Given the description of an element on the screen output the (x, y) to click on. 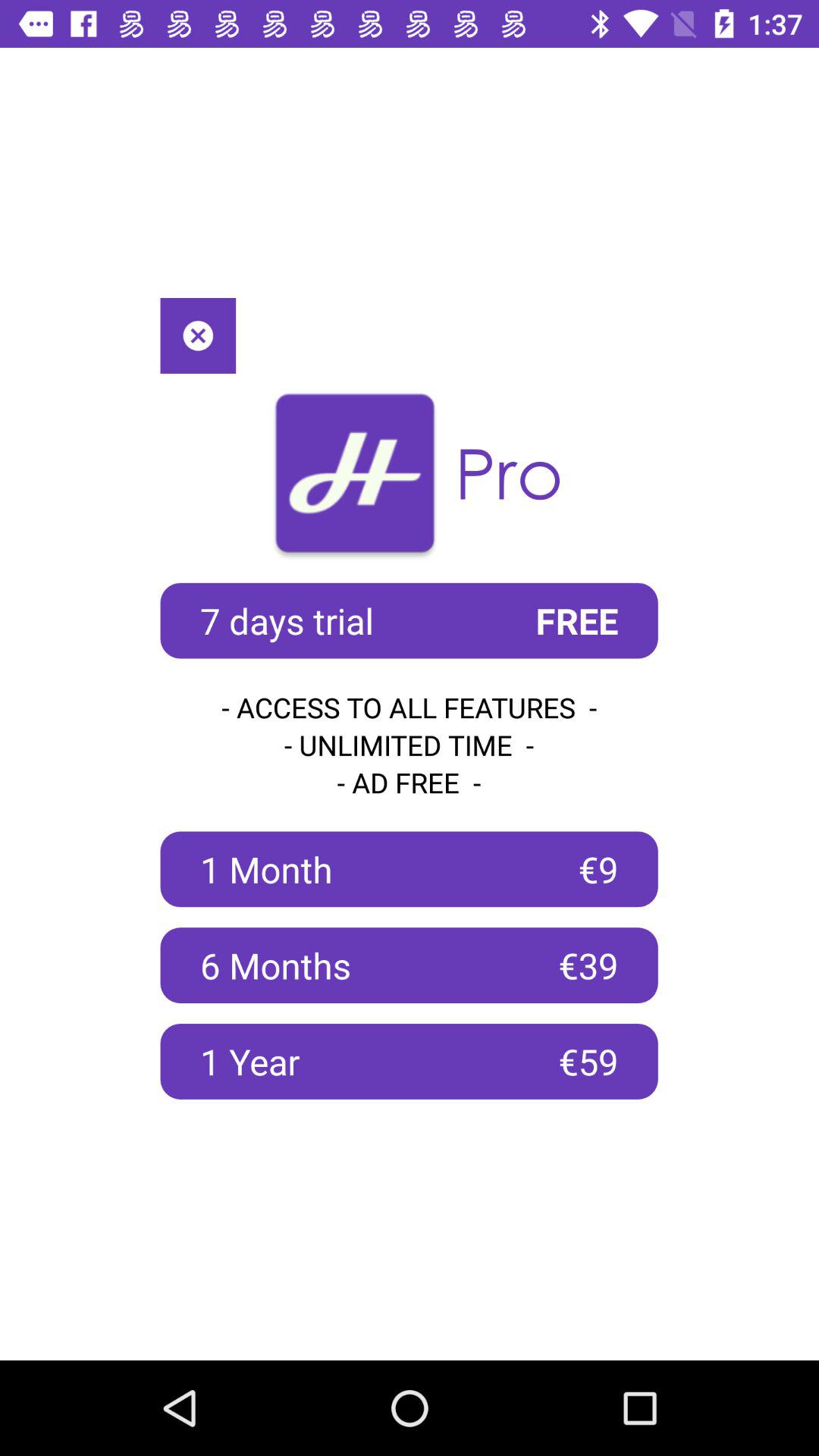
tap icon above 7 days trial (198, 335)
